Given the description of an element on the screen output the (x, y) to click on. 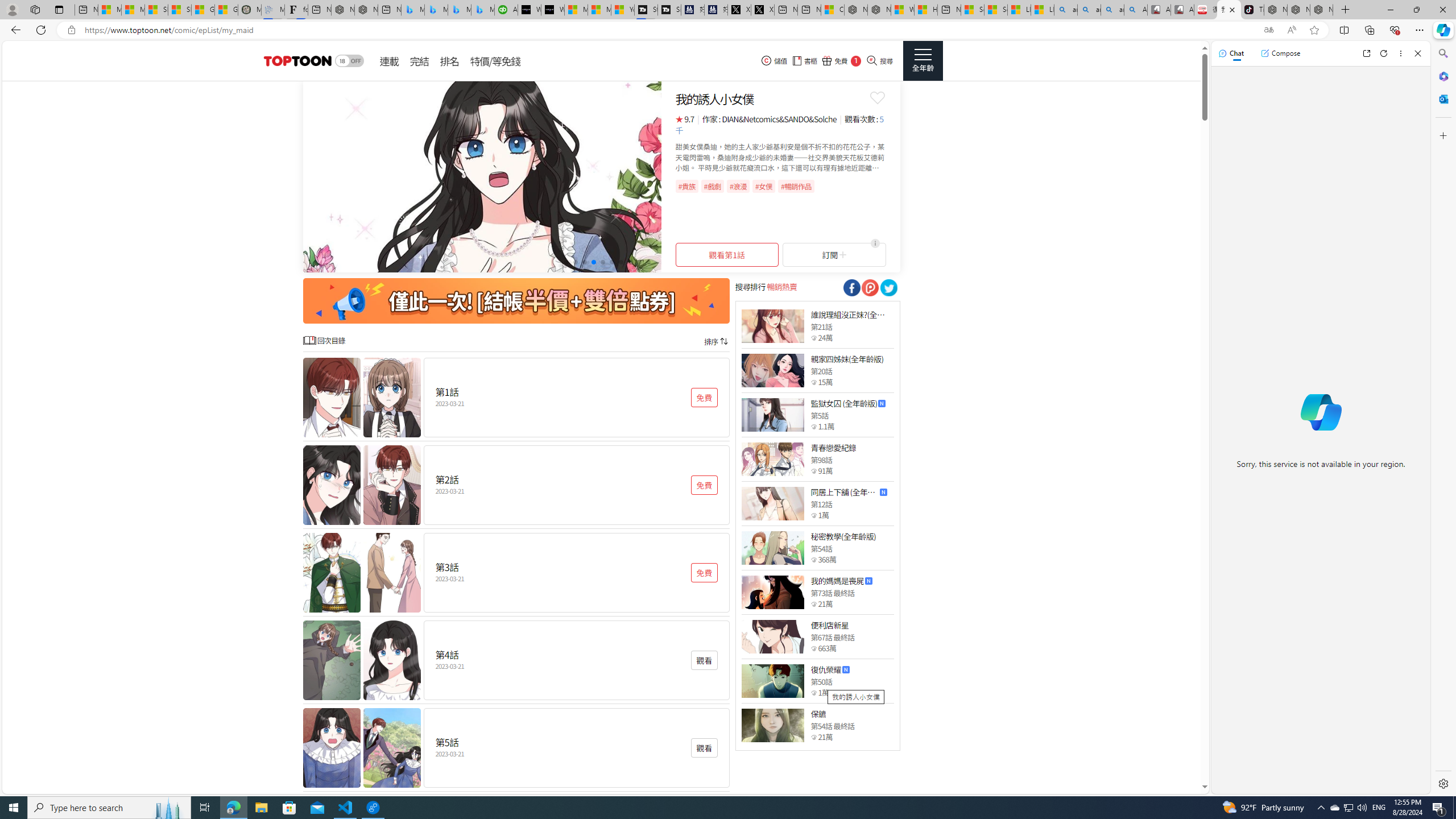
App bar (728, 29)
Nordace - Best Sellers (1275, 9)
Show translate options (1268, 29)
Go to slide 8 (629, 261)
Gilma and Hector both pose tropical trouble for Hawaii (226, 9)
